Given the description of an element on the screen output the (x, y) to click on. 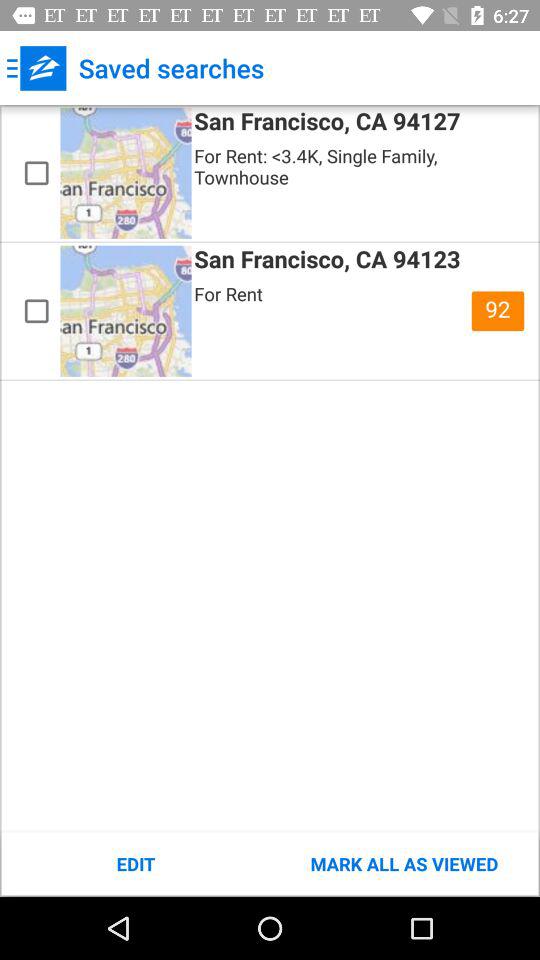
turn off mark all as (404, 863)
